Given the description of an element on the screen output the (x, y) to click on. 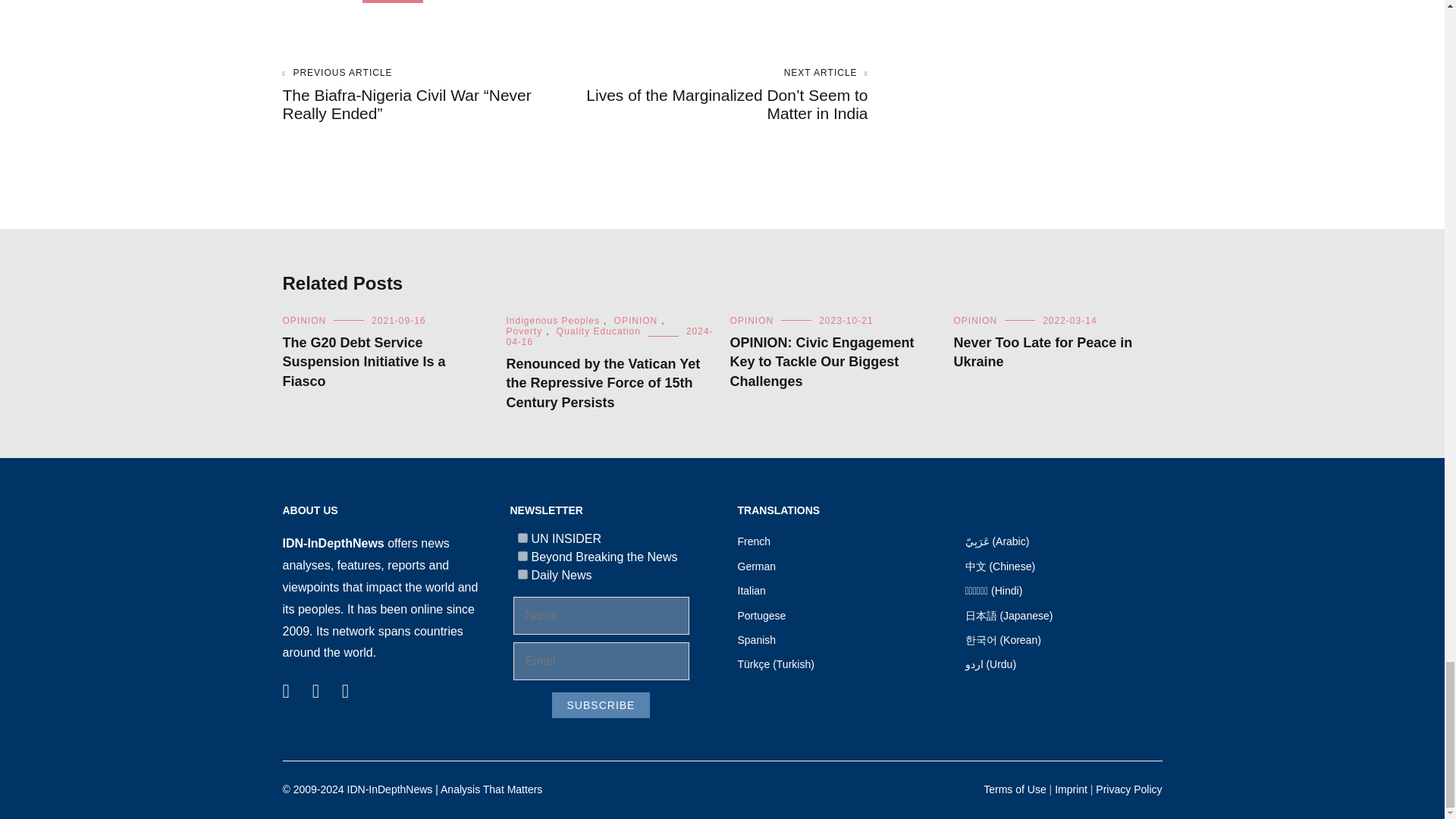
Terms of Use (1014, 788)
Twitter (315, 687)
10 (521, 574)
Imprint (1070, 788)
LinkedIn (345, 687)
Facebook (285, 687)
7 (521, 537)
9 (521, 556)
